Given the description of an element on the screen output the (x, y) to click on. 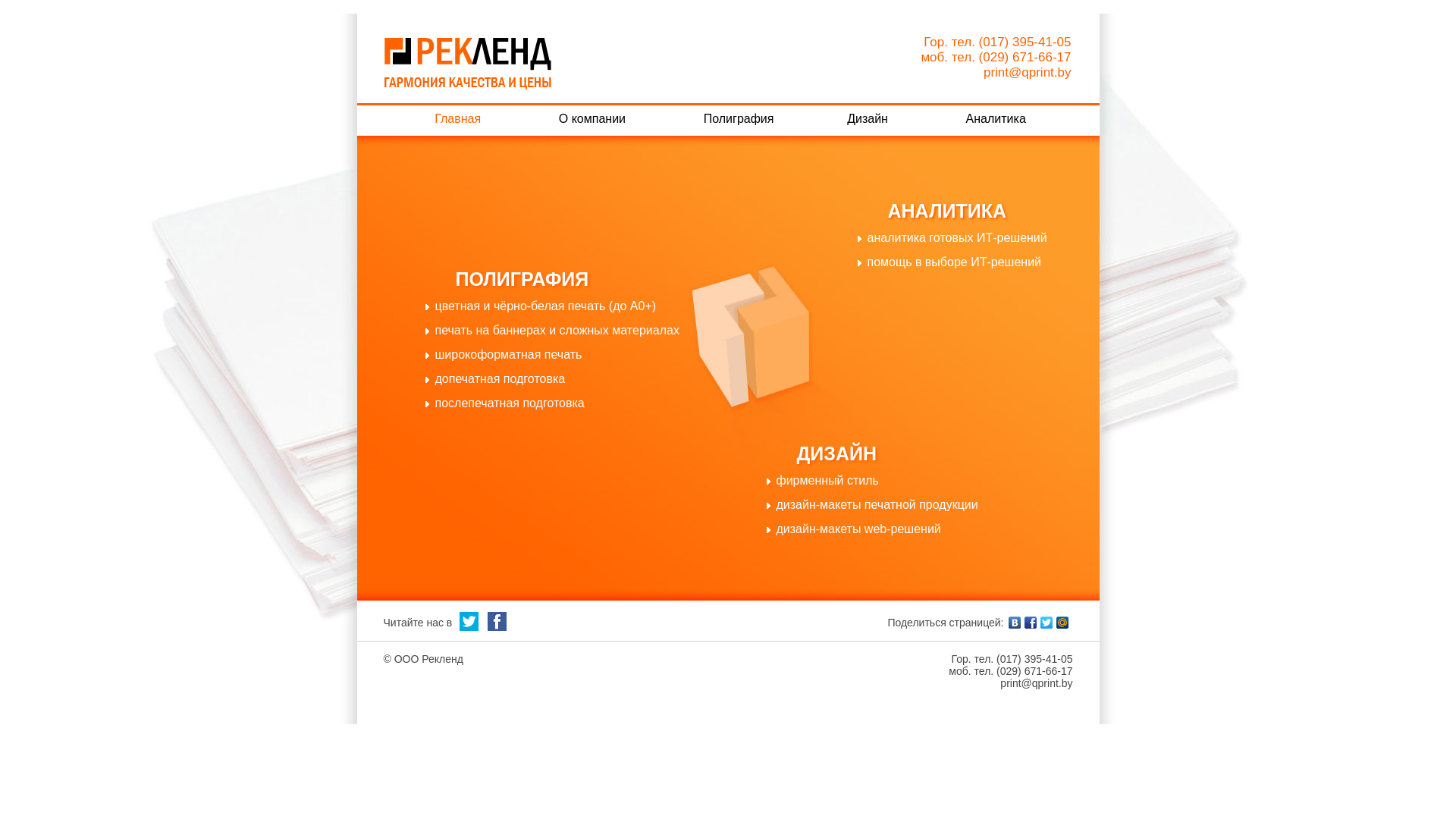
Twitter Element type: hover (1046, 622)
print@qprint.by Element type: text (1027, 72)
Facebook Element type: hover (1030, 622)
print@qprint.by Element type: text (1036, 683)
